Given the description of an element on the screen output the (x, y) to click on. 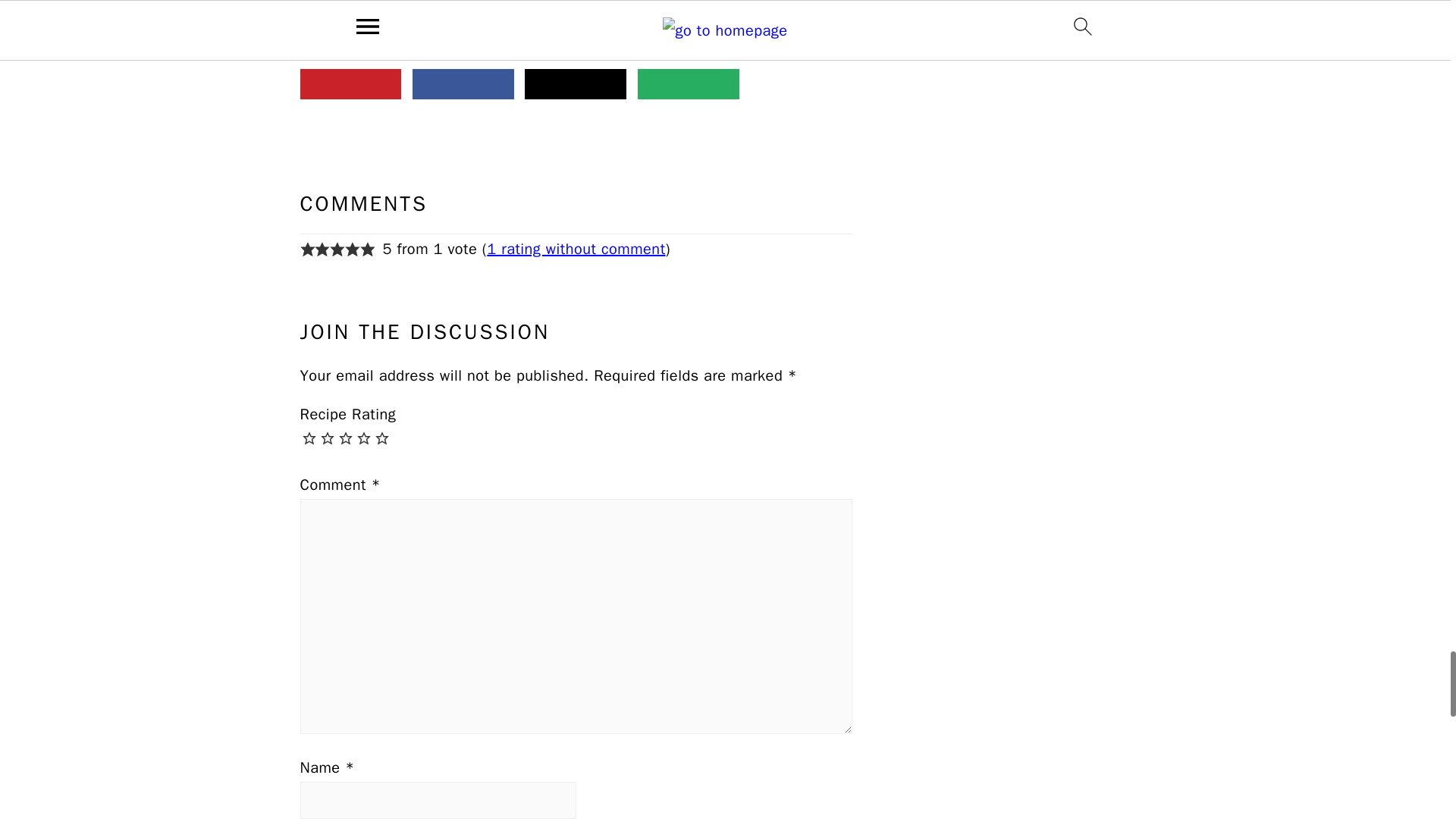
Send over email (688, 83)
Share on Facebook (462, 83)
Share on X (575, 83)
Save to Pinterest (350, 83)
